Given the description of an element on the screen output the (x, y) to click on. 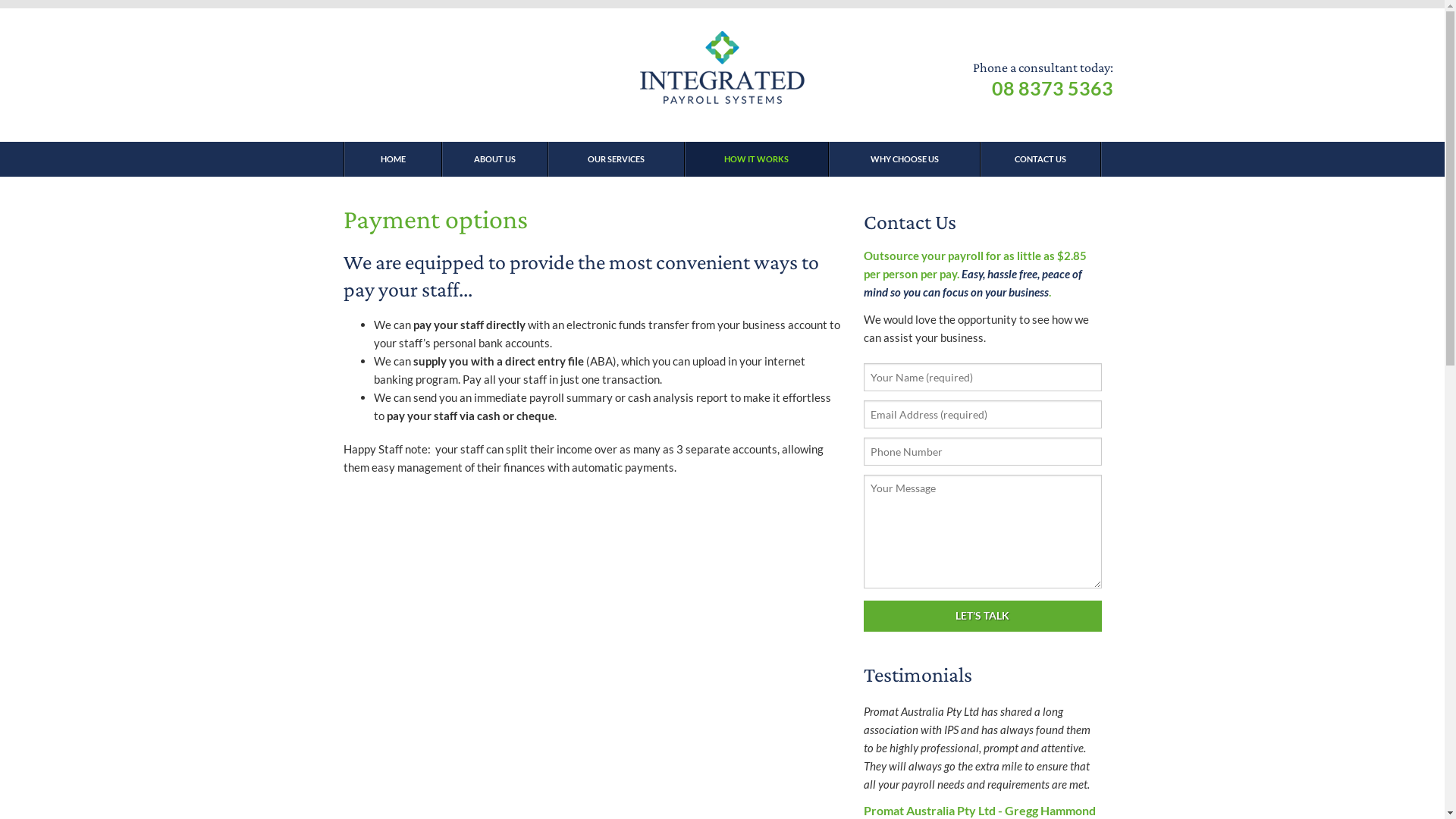
HOME Element type: text (391, 158)
LET'S TALK Element type: text (982, 615)
HOW IT WORKS Element type: text (756, 158)
CONTACT US Element type: text (1040, 158)
ABOUT US Element type: text (494, 158)
Contact Us Element type: text (909, 221)
Phone a consultant today:
08 8373 5363 Element type: text (1042, 79)
OUR SERVICES Element type: text (615, 158)
WHY CHOOSE US Element type: text (903, 158)
